Given the description of an element on the screen output the (x, y) to click on. 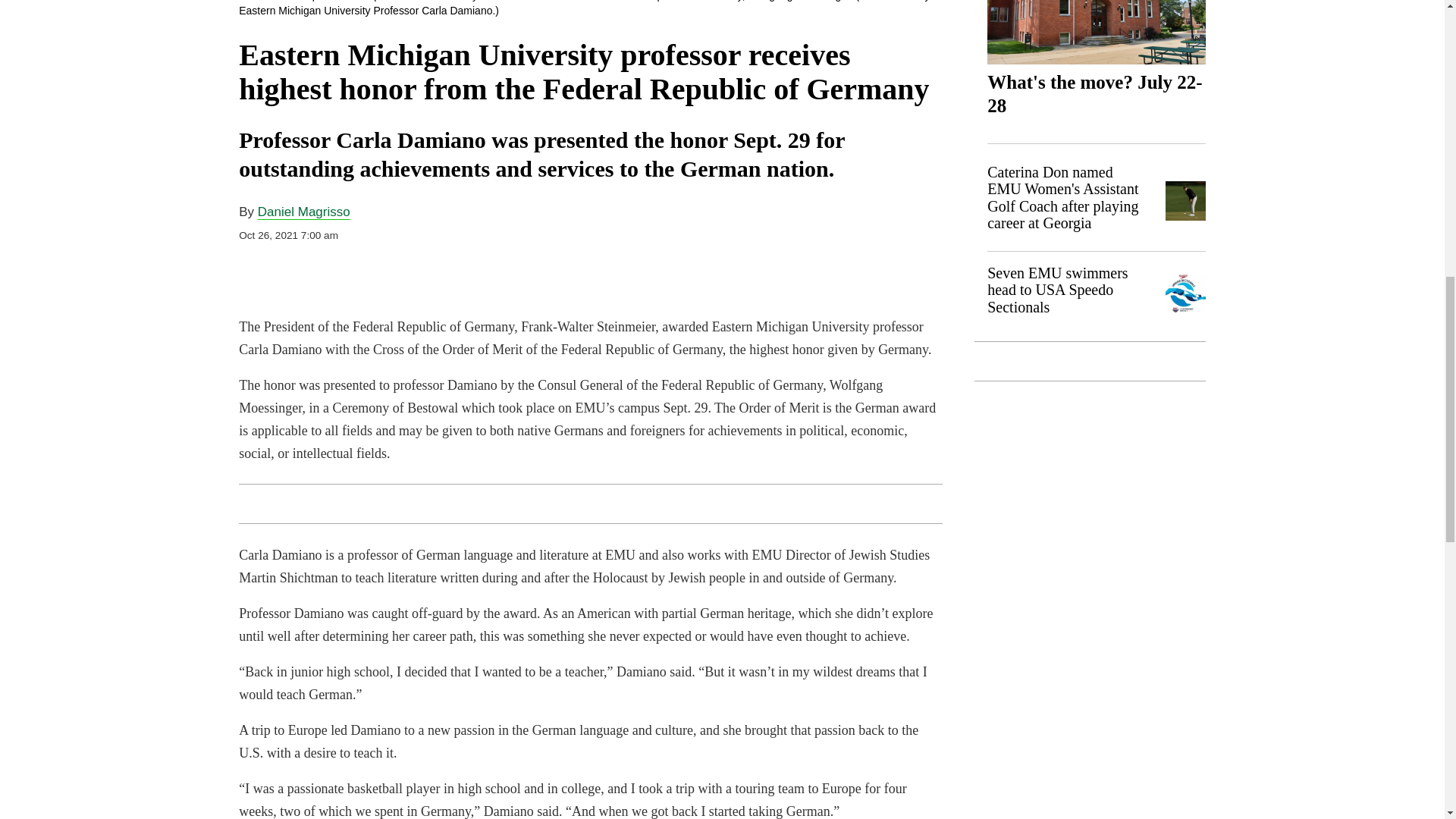
What's the move? July 22-28 (1094, 94)
Seven EMU swimmers head to USA Speedo Sectionals (1056, 289)
What's the move? July 22-28 (1096, 32)
